Given the description of an element on the screen output the (x, y) to click on. 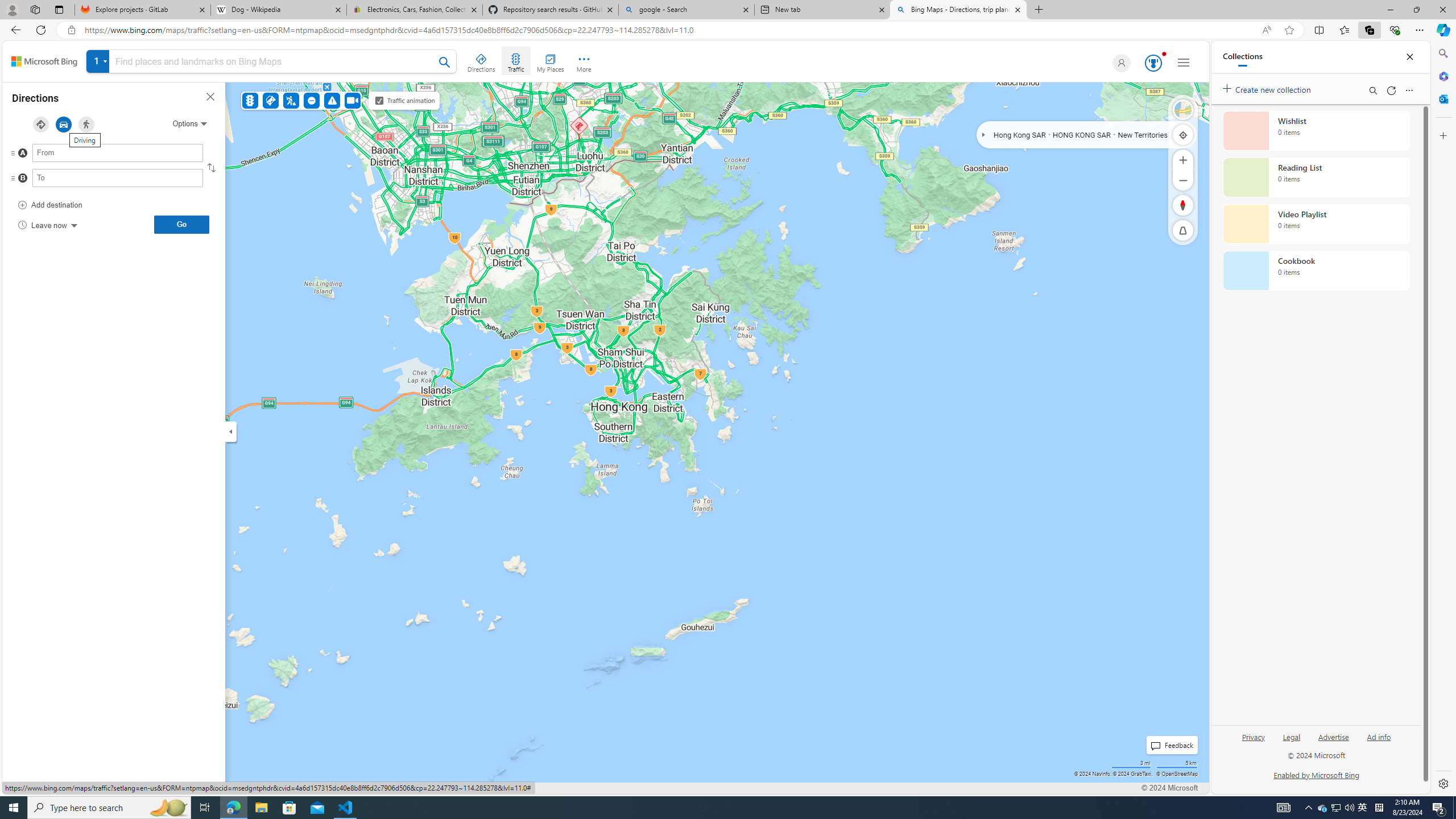
Dog - Wikipedia (277, 9)
Cookbook collection, 0 items (1316, 270)
Walking (86, 124)
Expand/Collapse Geochain (982, 134)
Privacy and Cookies (44, 787)
My Places (549, 60)
Rotate Right (1171, 205)
More options menu (1409, 90)
Settings and quick links (1183, 62)
Reset to Default Rotation (1182, 204)
google - Search (685, 9)
More (583, 60)
Bird's eye (1182, 109)
